Given the description of an element on the screen output the (x, y) to click on. 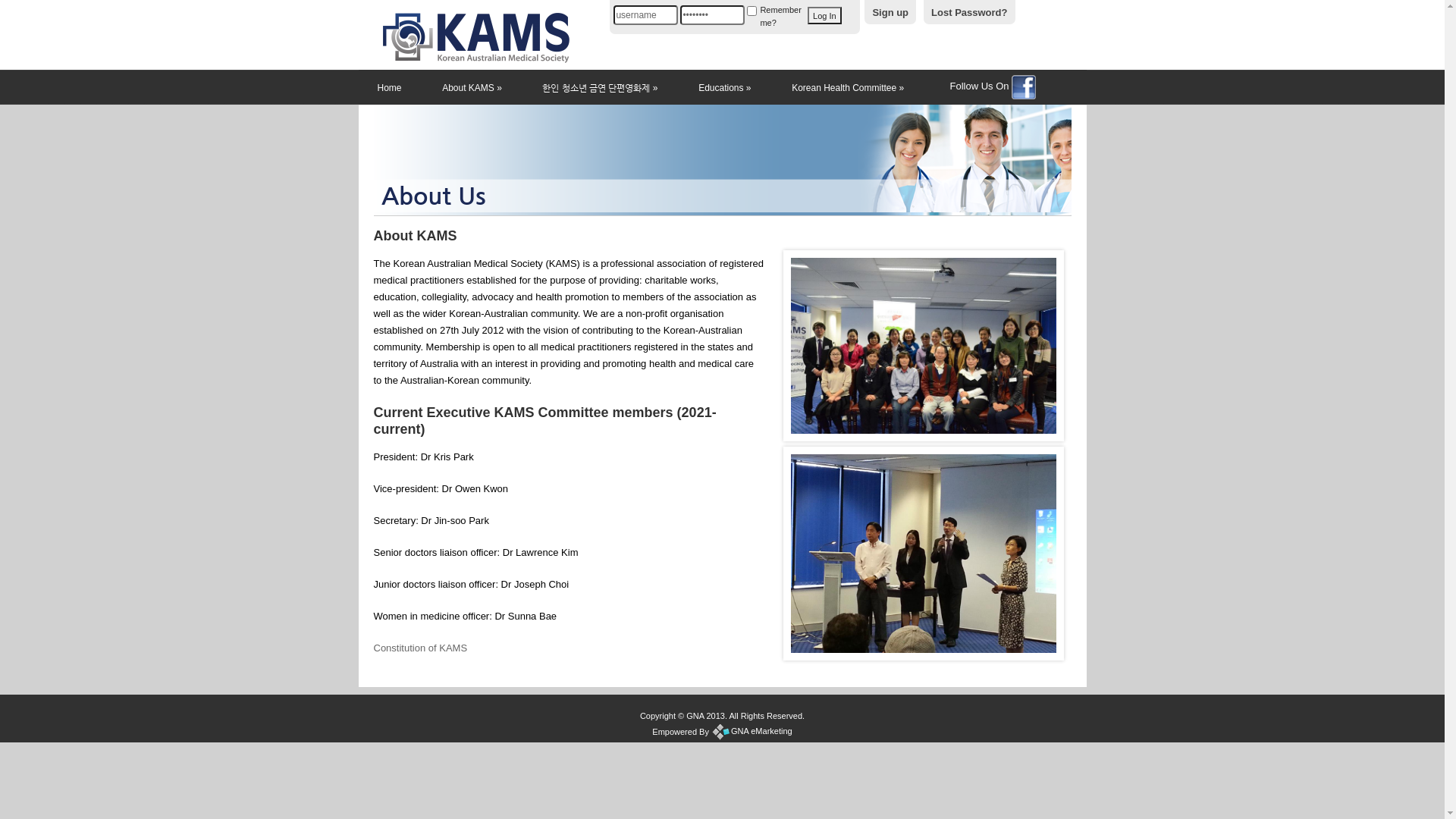
Home Element type: text (388, 86)
GNA eMarketing Element type: text (751, 730)
KAMS Element type: hover (475, 59)
Constitution of KAMS Element type: text (420, 647)
Log In Element type: text (824, 15)
Lost Password? Element type: text (968, 12)
Sign up Element type: text (890, 12)
